Given the description of an element on the screen output the (x, y) to click on. 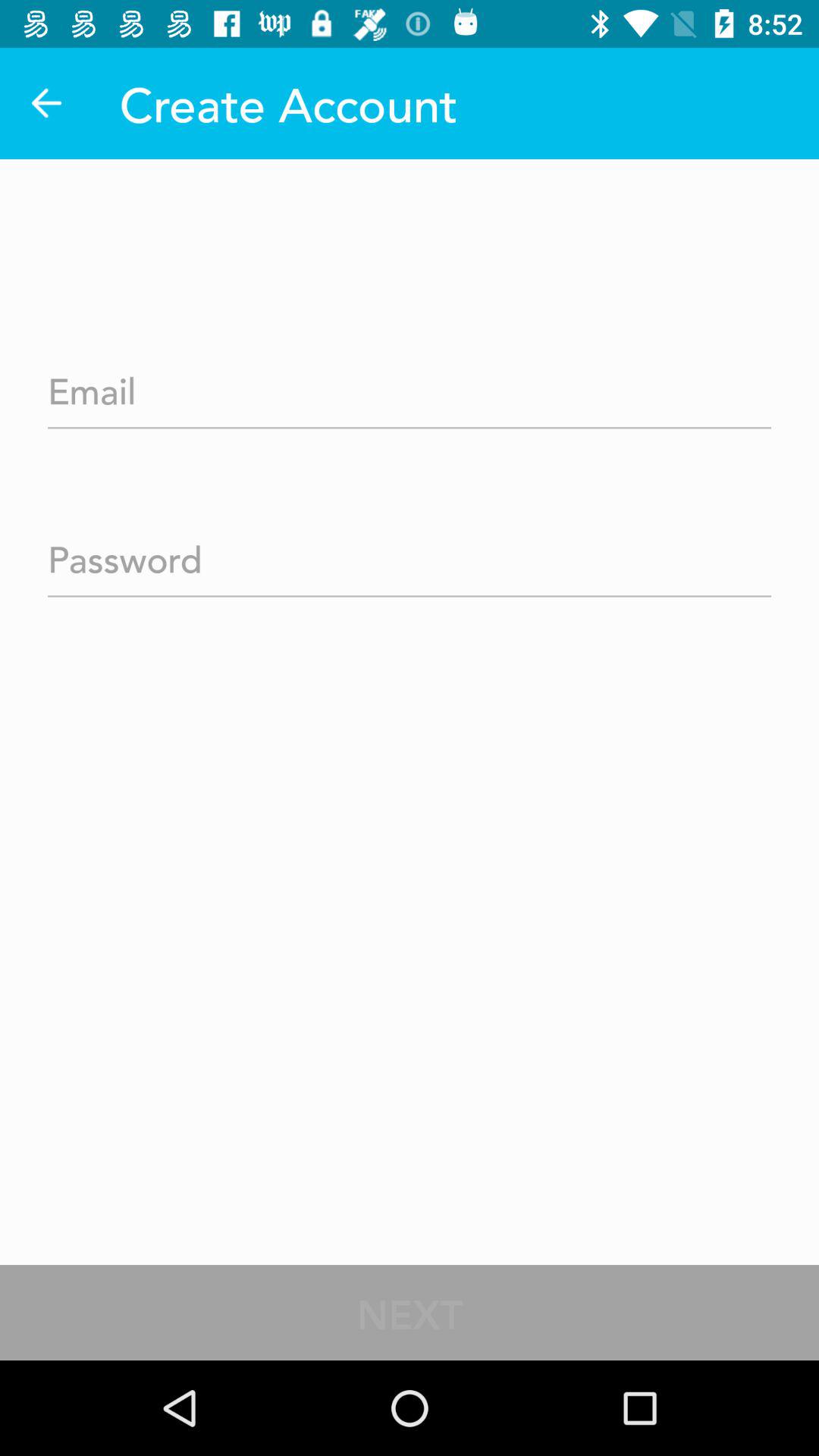
swipe to the next item (409, 1312)
